Given the description of an element on the screen output the (x, y) to click on. 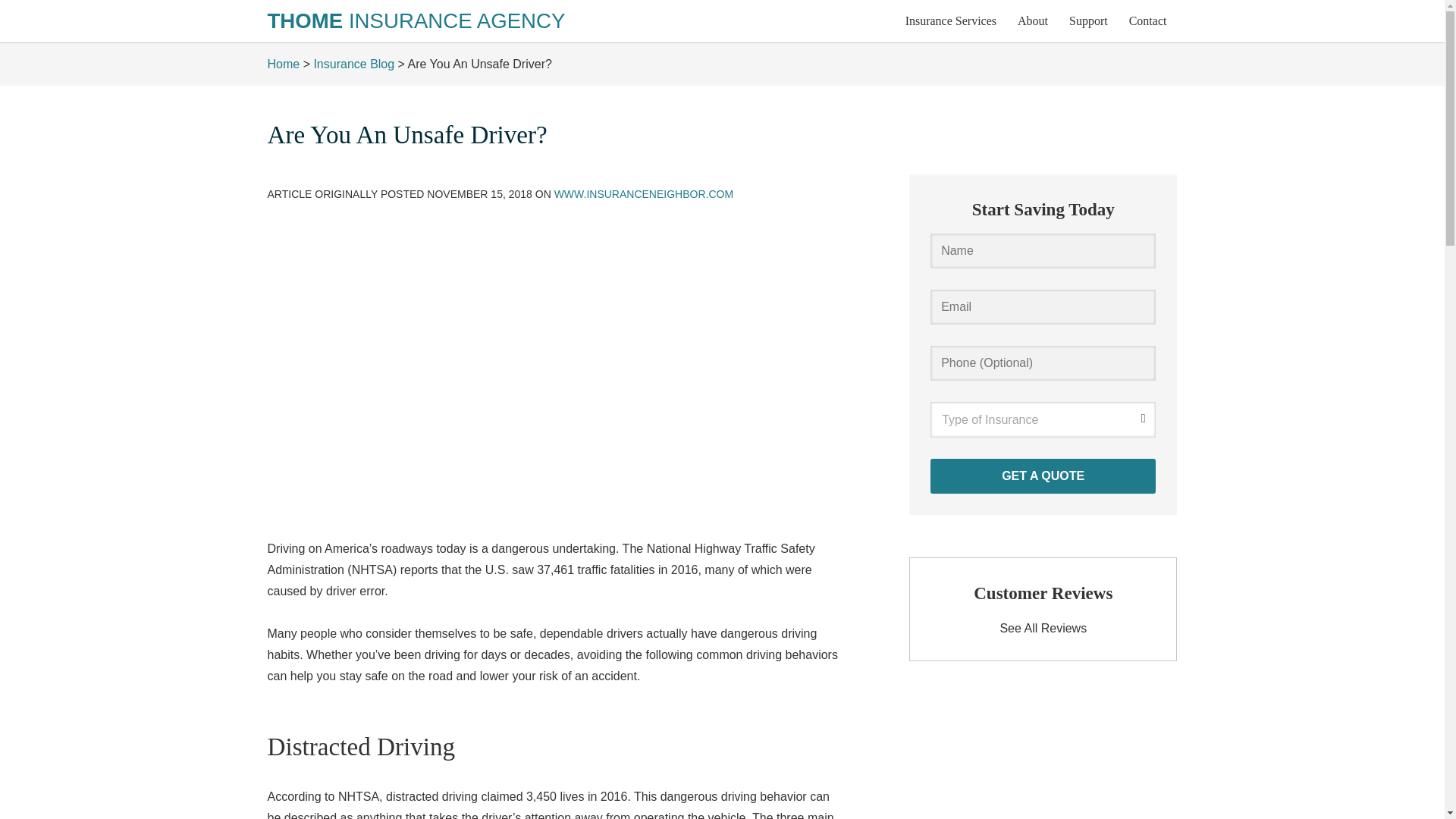
Insurance Services (951, 21)
About (1032, 21)
Contact (1147, 21)
Support (1088, 21)
THOME INSURANCE AGENCY (415, 20)
Home (282, 63)
Insurance Blog (353, 63)
Get A Quote (1043, 475)
